Given the description of an element on the screen output the (x, y) to click on. 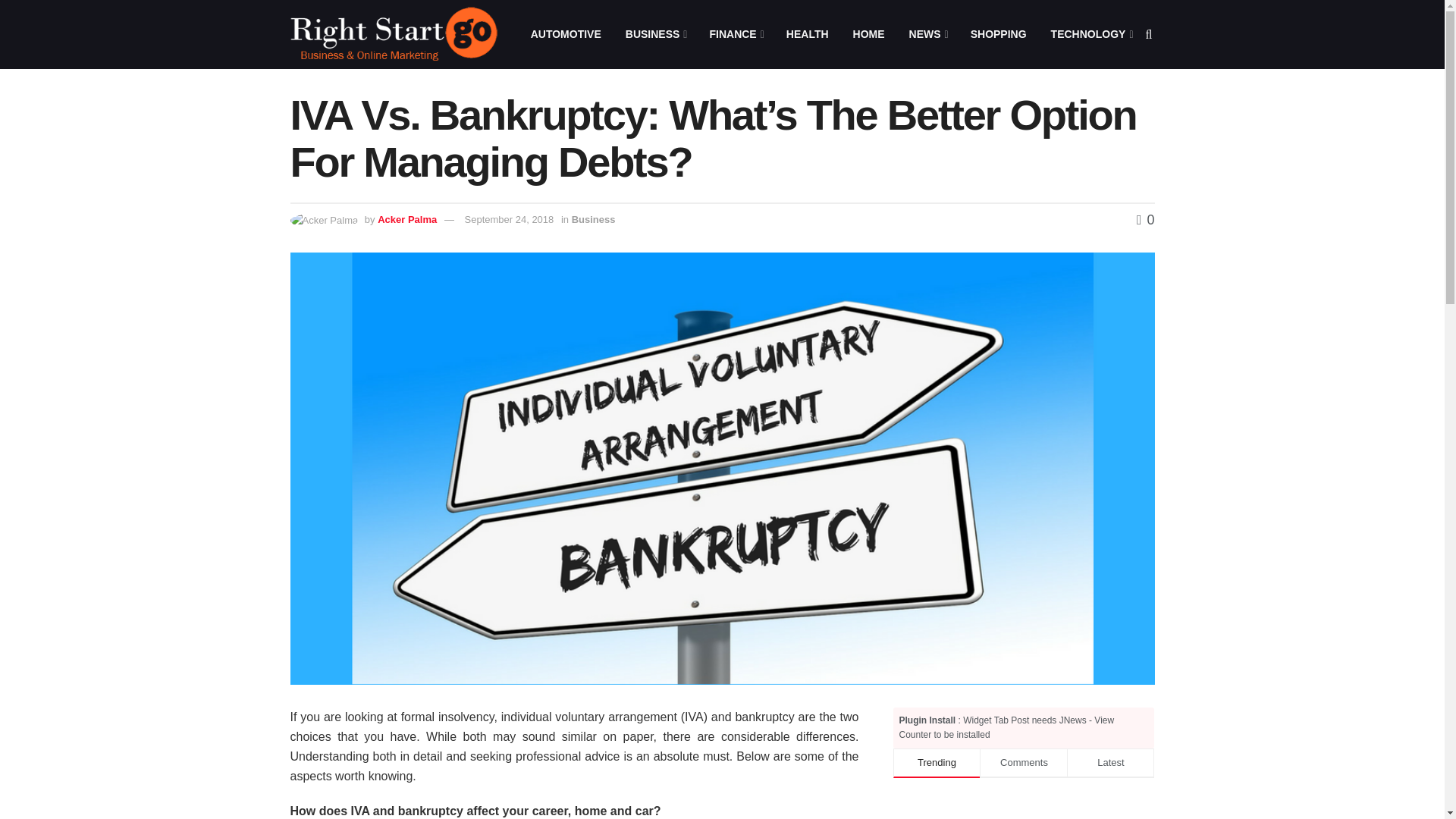
BUSINESS (654, 34)
SHOPPING (998, 34)
FINANCE (735, 34)
NEWS (927, 34)
TECHNOLOGY (1090, 34)
HEALTH (807, 34)
AUTOMOTIVE (565, 34)
